Given the description of an element on the screen output the (x, y) to click on. 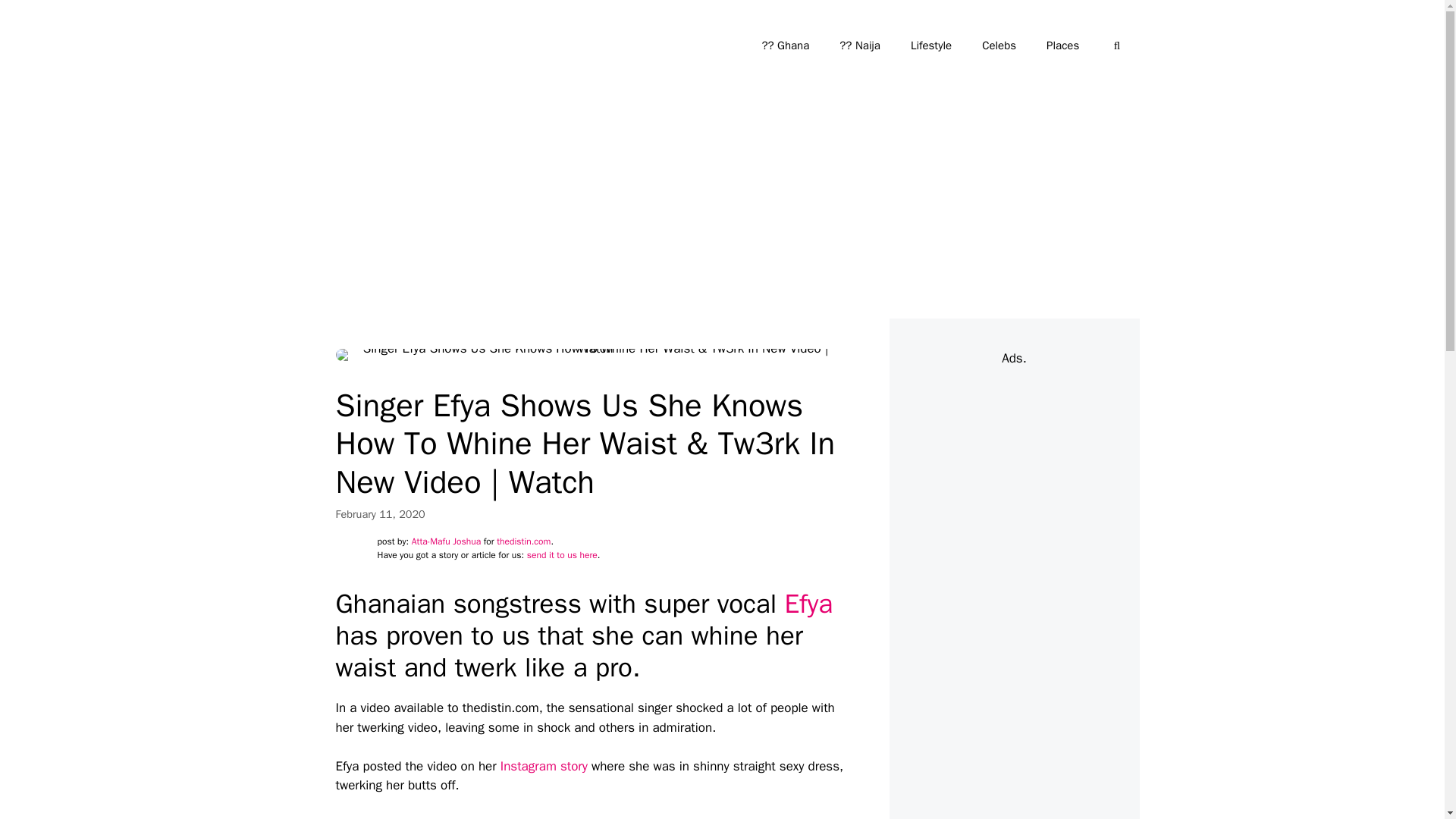
Instagram story (544, 765)
?? Naija (859, 44)
Atta-Mafu Joshua (446, 541)
Places (1062, 44)
Thedistin (365, 45)
Search (35, 18)
Celebs (998, 44)
Efya (808, 603)
Thedistin (361, 45)
